Given the description of an element on the screen output the (x, y) to click on. 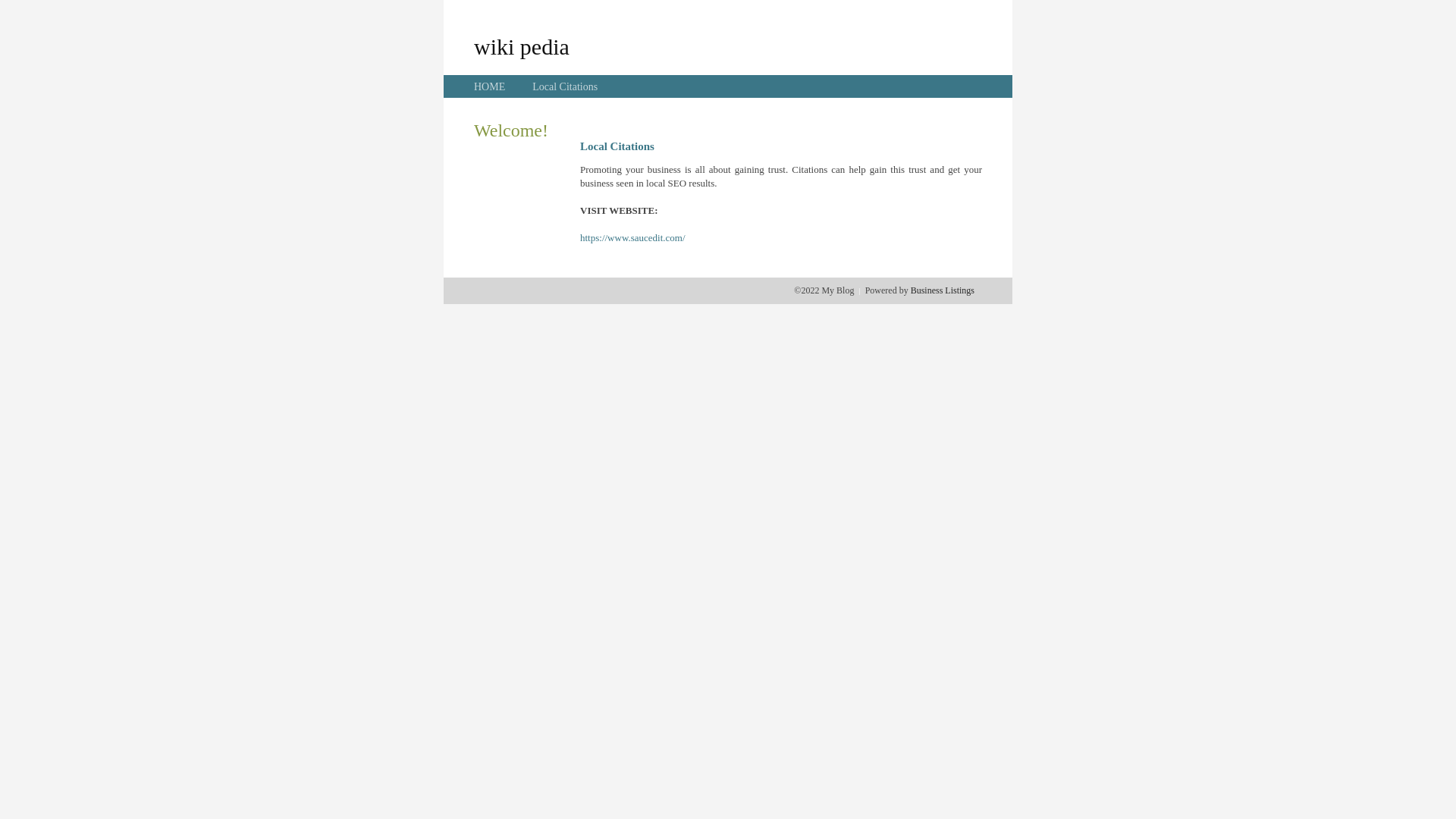
Local Citations Element type: text (564, 86)
https://www.saucedit.com/ Element type: text (632, 237)
HOME Element type: text (489, 86)
Business Listings Element type: text (942, 290)
wiki pedia Element type: text (521, 46)
